Given the description of an element on the screen output the (x, y) to click on. 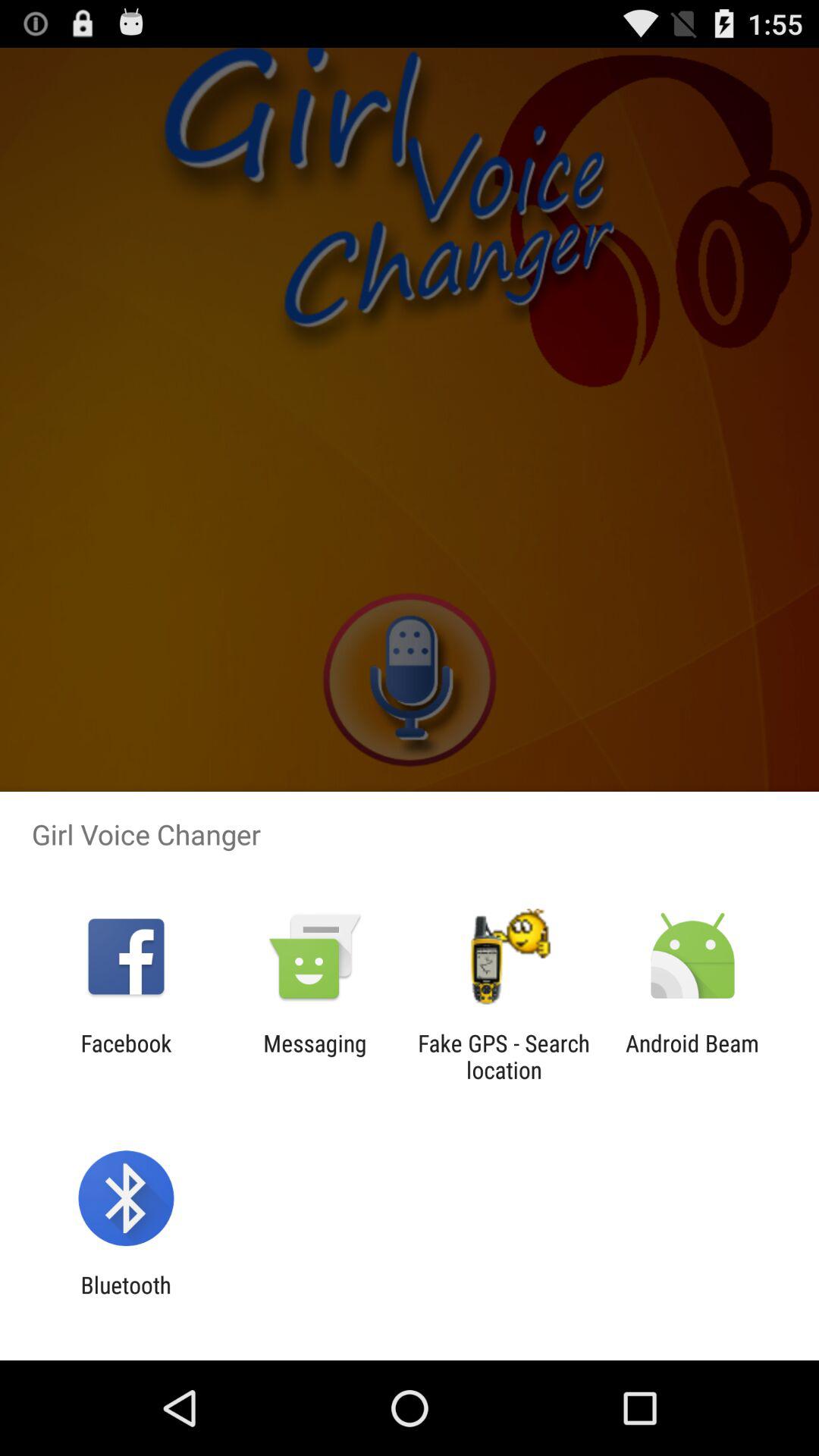
turn off item to the left of the fake gps search item (314, 1056)
